Given the description of an element on the screen output the (x, y) to click on. 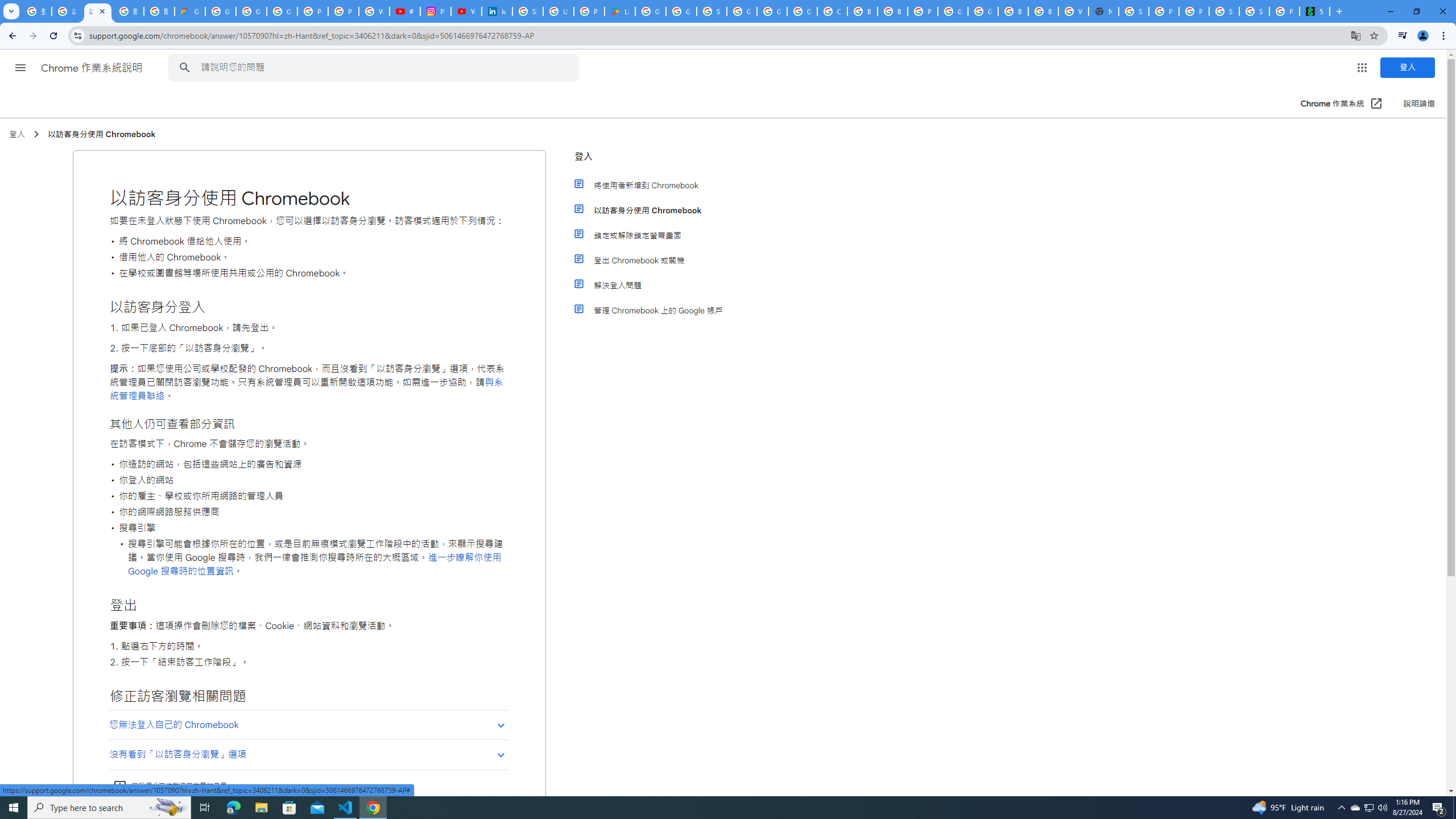
Last Shelter: Survival - Apps on Google Play (619, 11)
Google Cloud Platform (982, 11)
New Tab (1103, 11)
Sign in - Google Accounts (711, 11)
